Given the description of an element on the screen output the (x, y) to click on. 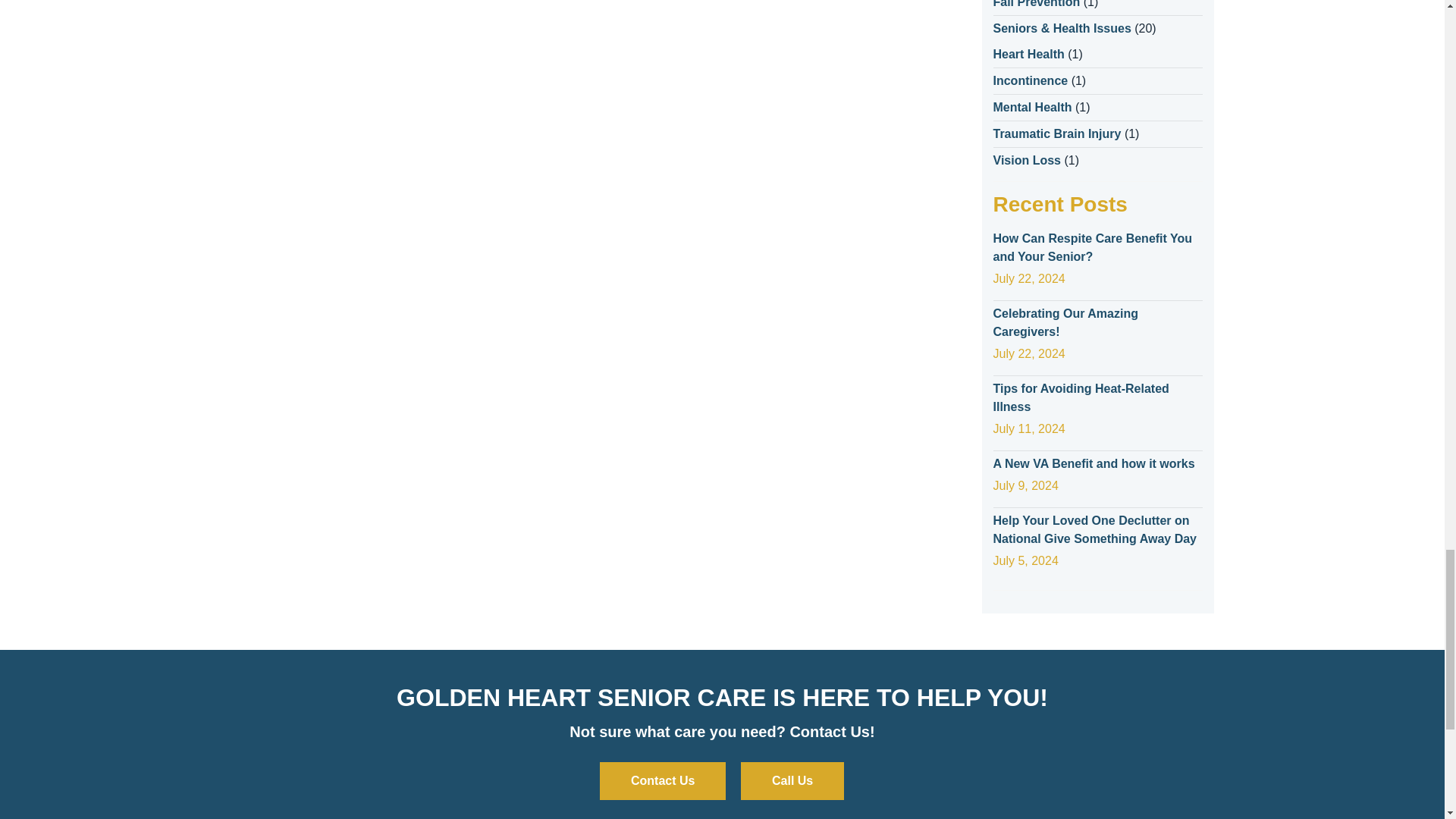
Contact Golden Heart Senior Care (662, 781)
